Given the description of an element on the screen output the (x, y) to click on. 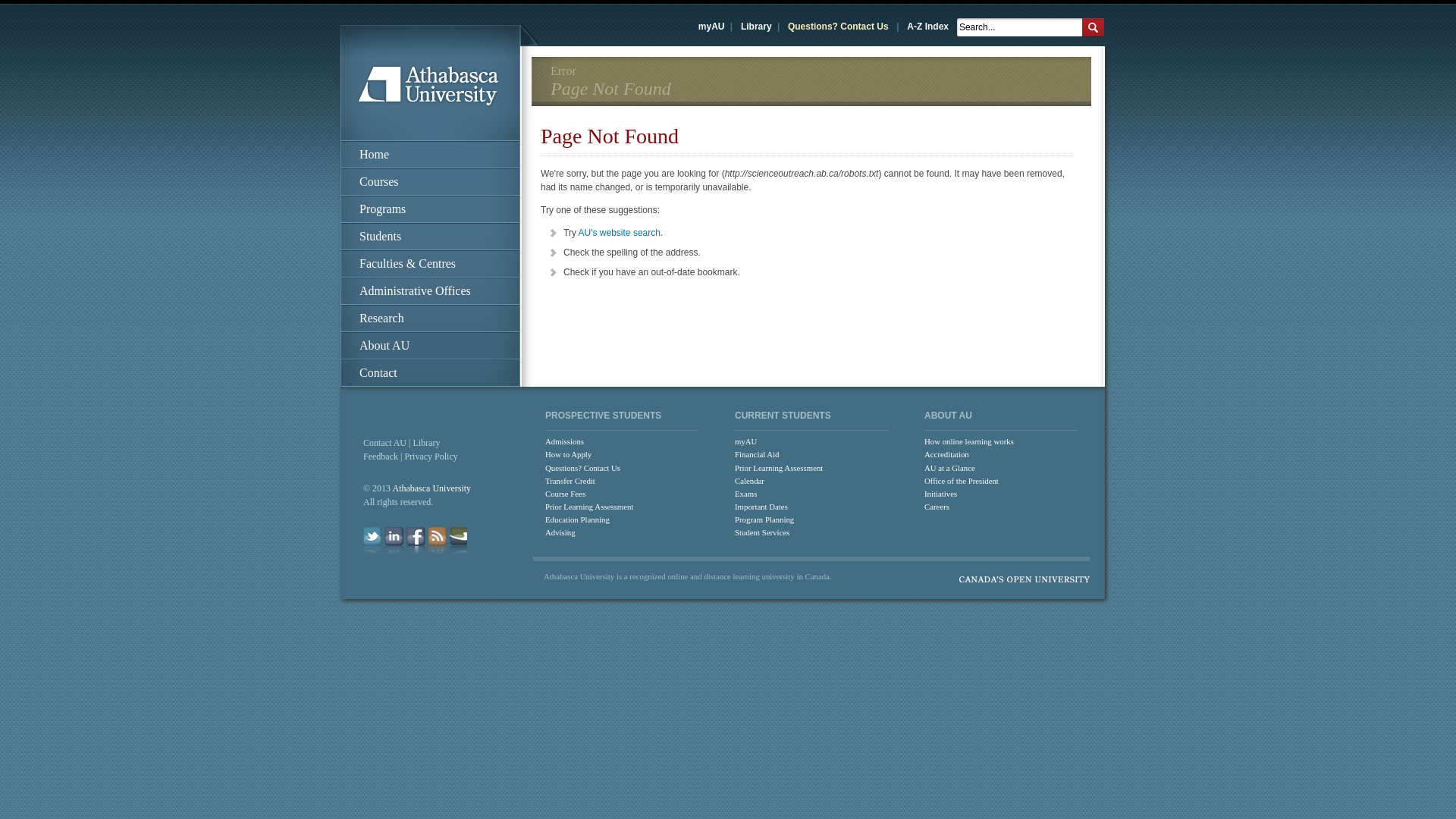
Contact Element type: text (430, 372)
Research Element type: text (430, 318)
Program Planning Element type: text (809, 519)
Programs Element type: text (430, 208)
Contact AU Element type: text (384, 442)
Transfer Credit Element type: text (619, 480)
Initiatives Element type: text (998, 493)
Library Element type: text (756, 26)
Prior Learning Assessment Element type: text (619, 506)
Important Dates Element type: text (809, 506)
Education Planning Element type: text (619, 519)
Advising Element type: text (619, 532)
Student Services Element type: text (809, 532)
AU's website search Element type: text (619, 232)
Questions? Contact Us Element type: text (837, 26)
Administrative Offices Element type: text (430, 290)
Home Element type: text (430, 154)
About AU Element type: text (430, 345)
Office of the President Element type: text (998, 480)
Privacy Policy Element type: text (430, 456)
Exams Element type: text (809, 493)
Calendar Element type: text (809, 480)
AU at a Glance Element type: text (998, 467)
How to Apply Element type: text (619, 454)
Faculties & Centres Element type: text (430, 263)
Questions? Contact Us Element type: text (619, 467)
Financial Aid Element type: text (809, 454)
Admissions Element type: text (619, 441)
Course Fees Element type: text (619, 493)
Prior Learning Assessment Element type: text (809, 467)
How online learning works Element type: text (998, 441)
Students Element type: text (430, 236)
Courses Element type: text (430, 181)
myAU Element type: text (711, 26)
Careers Element type: text (998, 506)
myAU Element type: text (809, 441)
Library Element type: text (425, 442)
Feedback Element type: text (380, 456)
Accreditation Element type: text (998, 454)
A-Z Index Element type: text (927, 26)
